Given the description of an element on the screen output the (x, y) to click on. 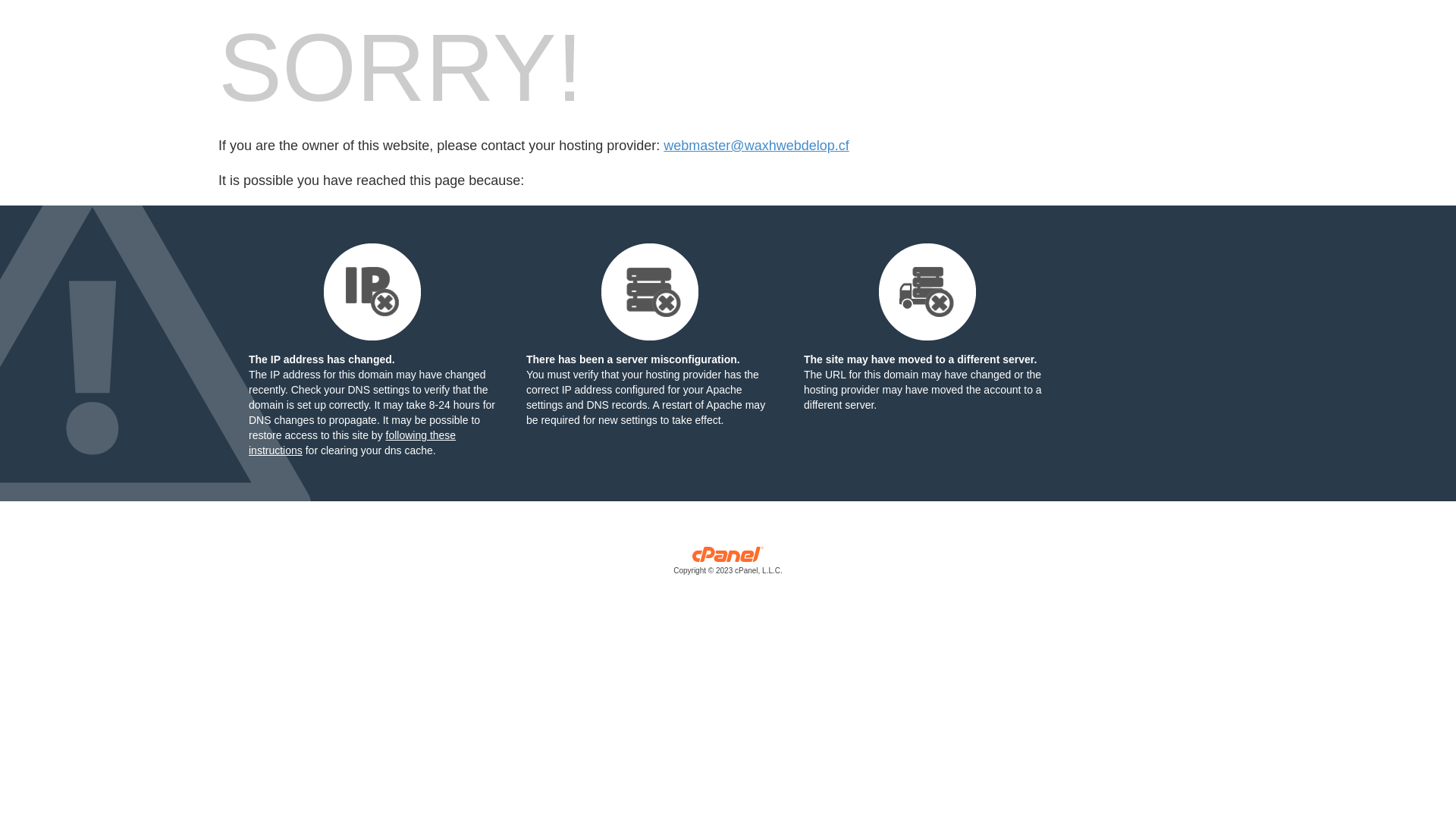
webmaster@waxhwebdelop.cf Element type: text (755, 145)
following these instructions Element type: text (351, 442)
